Given the description of an element on the screen output the (x, y) to click on. 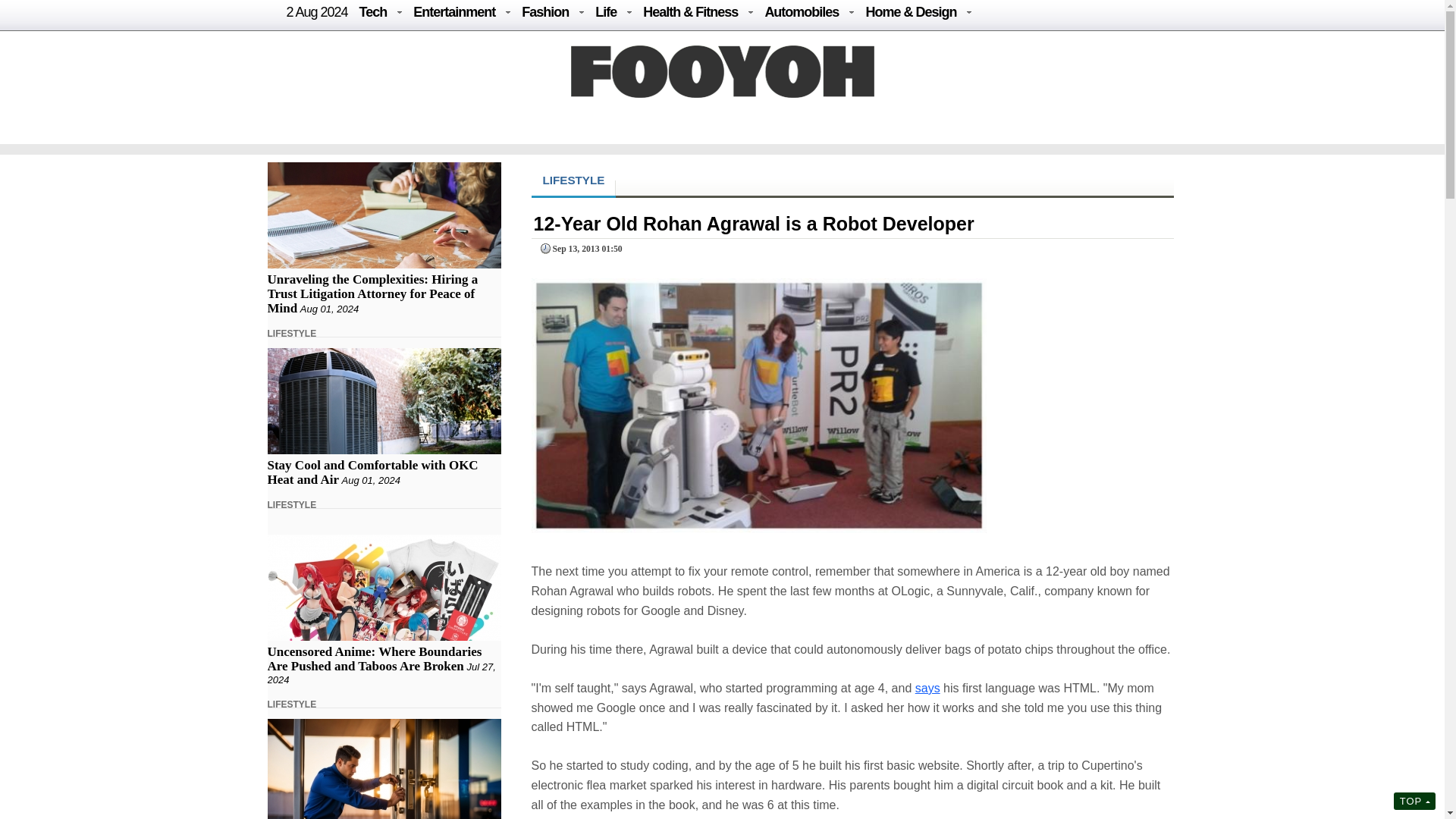
Tech (373, 11)
Fashion (545, 11)
Entertainment (454, 11)
2 Aug 2024 (316, 11)
Date (579, 248)
